Given the description of an element on the screen output the (x, y) to click on. 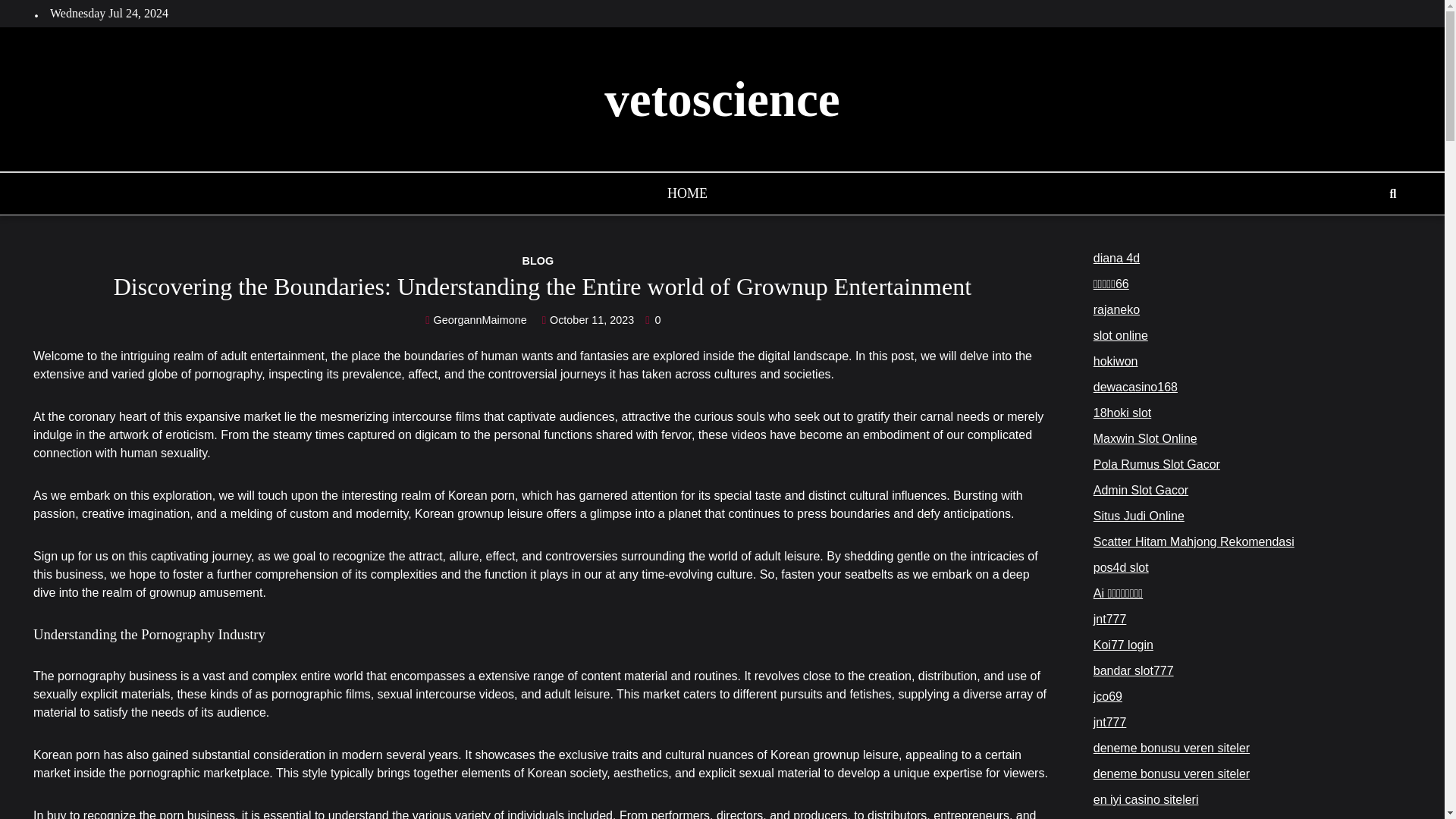
BLOG (540, 261)
GeorgannMaimone (477, 319)
0 (652, 319)
October 11, 2023 (586, 319)
vetoscience (722, 99)
HOME (686, 198)
